Given the description of an element on the screen output the (x, y) to click on. 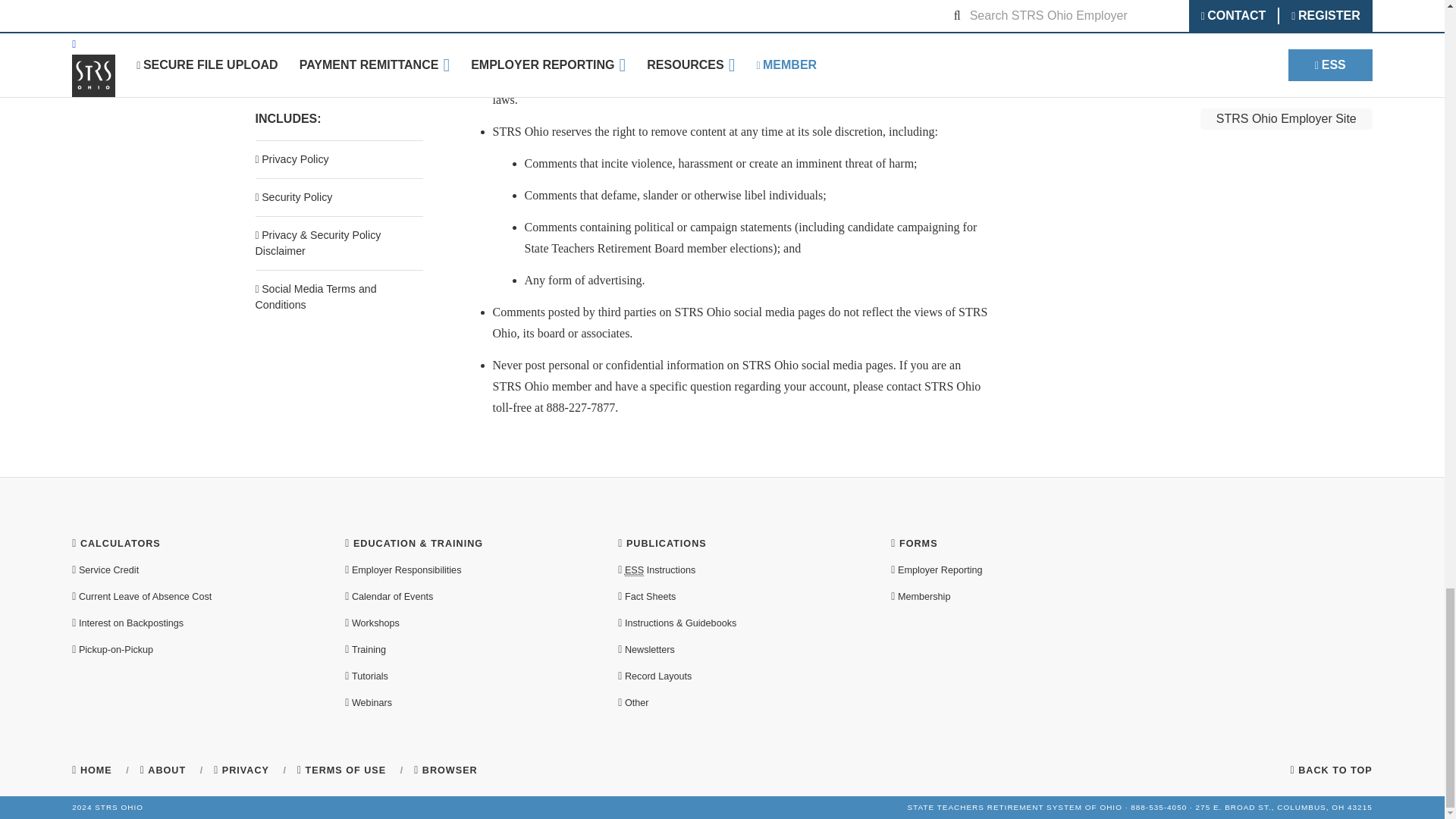
Employer Self Service (633, 570)
